Given the description of an element on the screen output the (x, y) to click on. 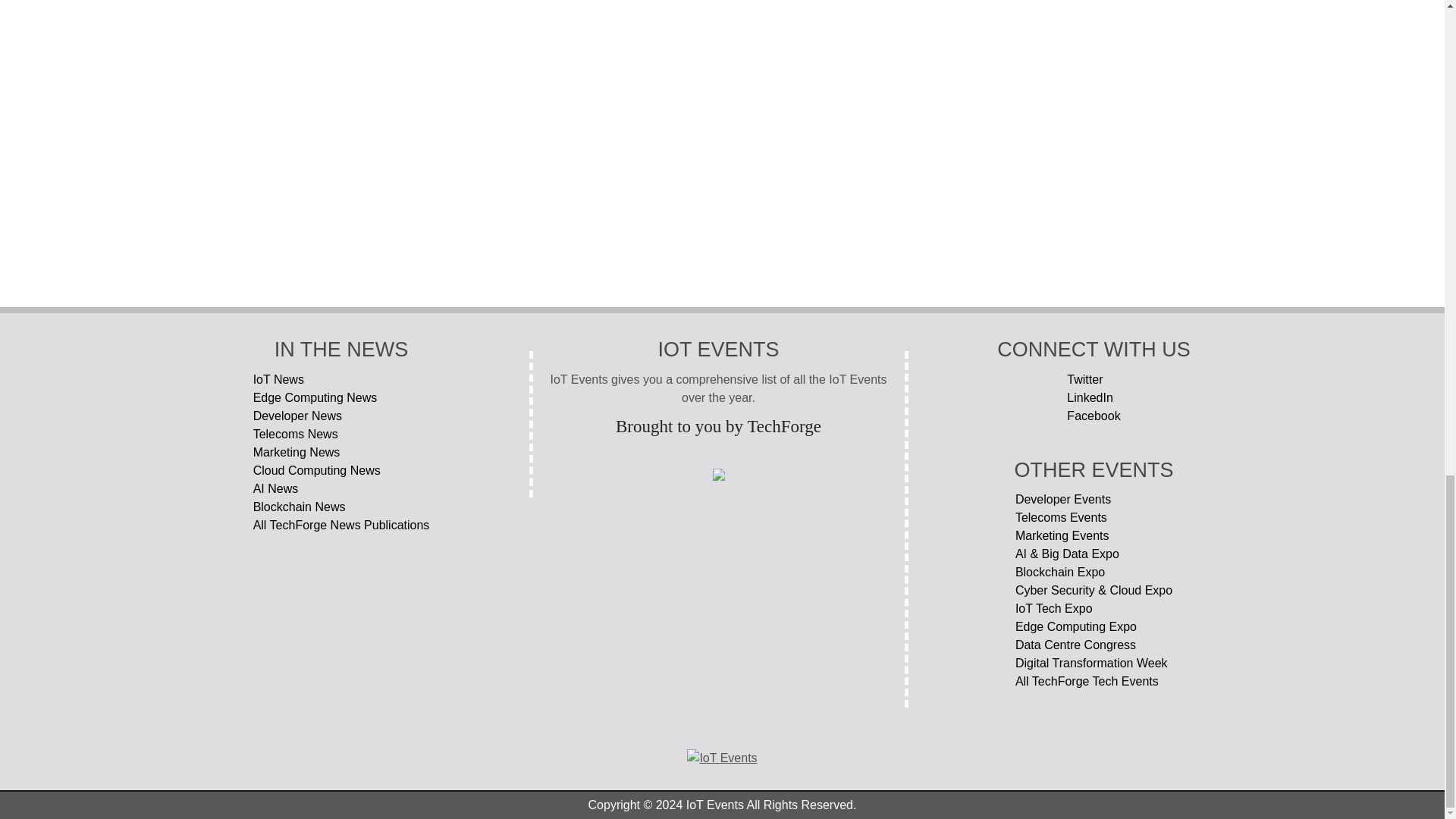
IoT Events (722, 757)
Developer News (341, 416)
Edge Computing News (341, 398)
IoT News (341, 380)
Telecoms News (341, 434)
Blockchain News (341, 506)
AI News (341, 488)
All TechForge News Publications (341, 525)
Cloud Computing News (341, 470)
Marketing News (341, 452)
